Given the description of an element on the screen output the (x, y) to click on. 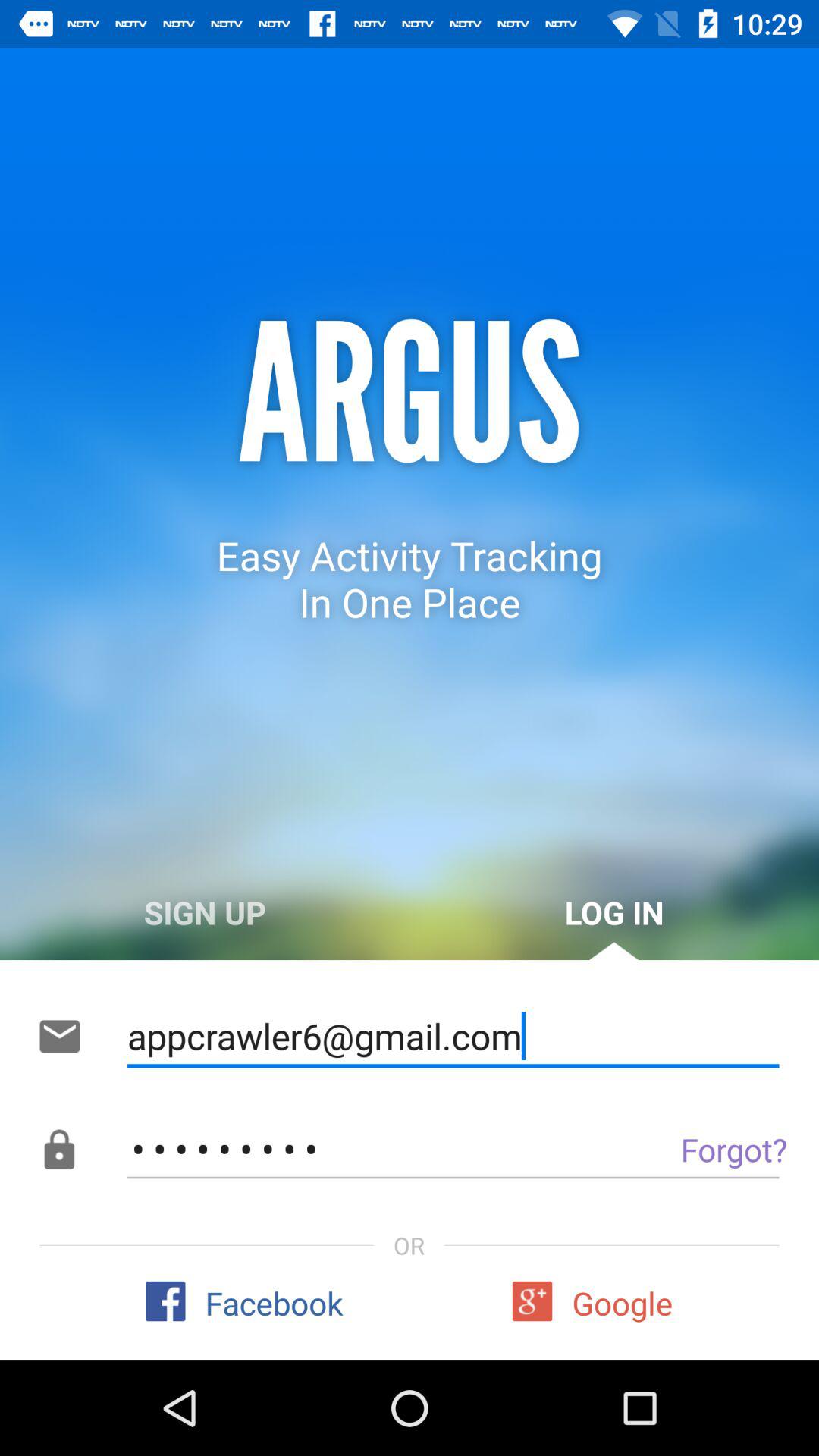
select the icon above easy activity tracking (409, 396)
